Given the description of an element on the screen output the (x, y) to click on. 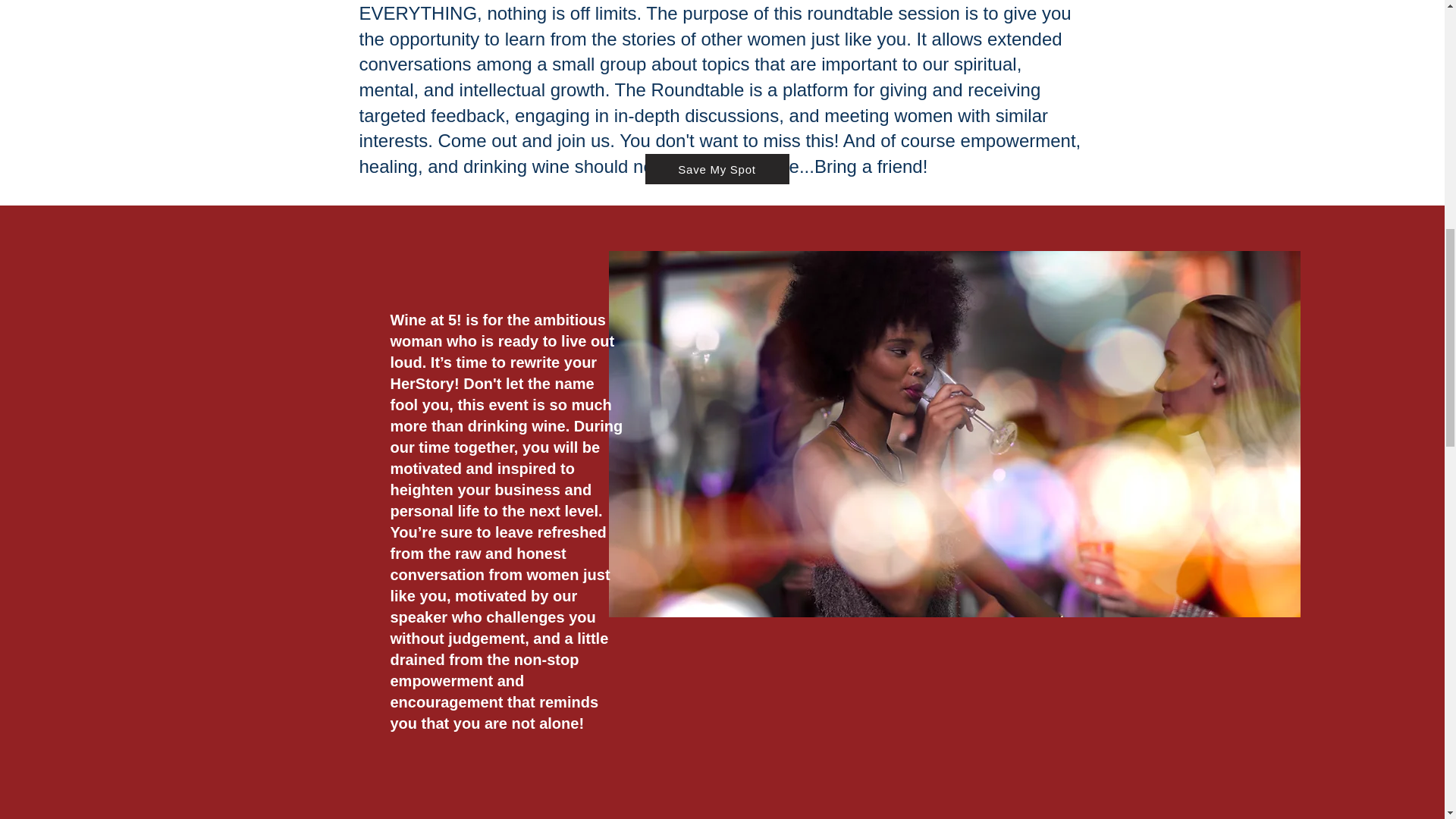
Save My Spot (717, 168)
